Given the description of an element on the screen output the (x, y) to click on. 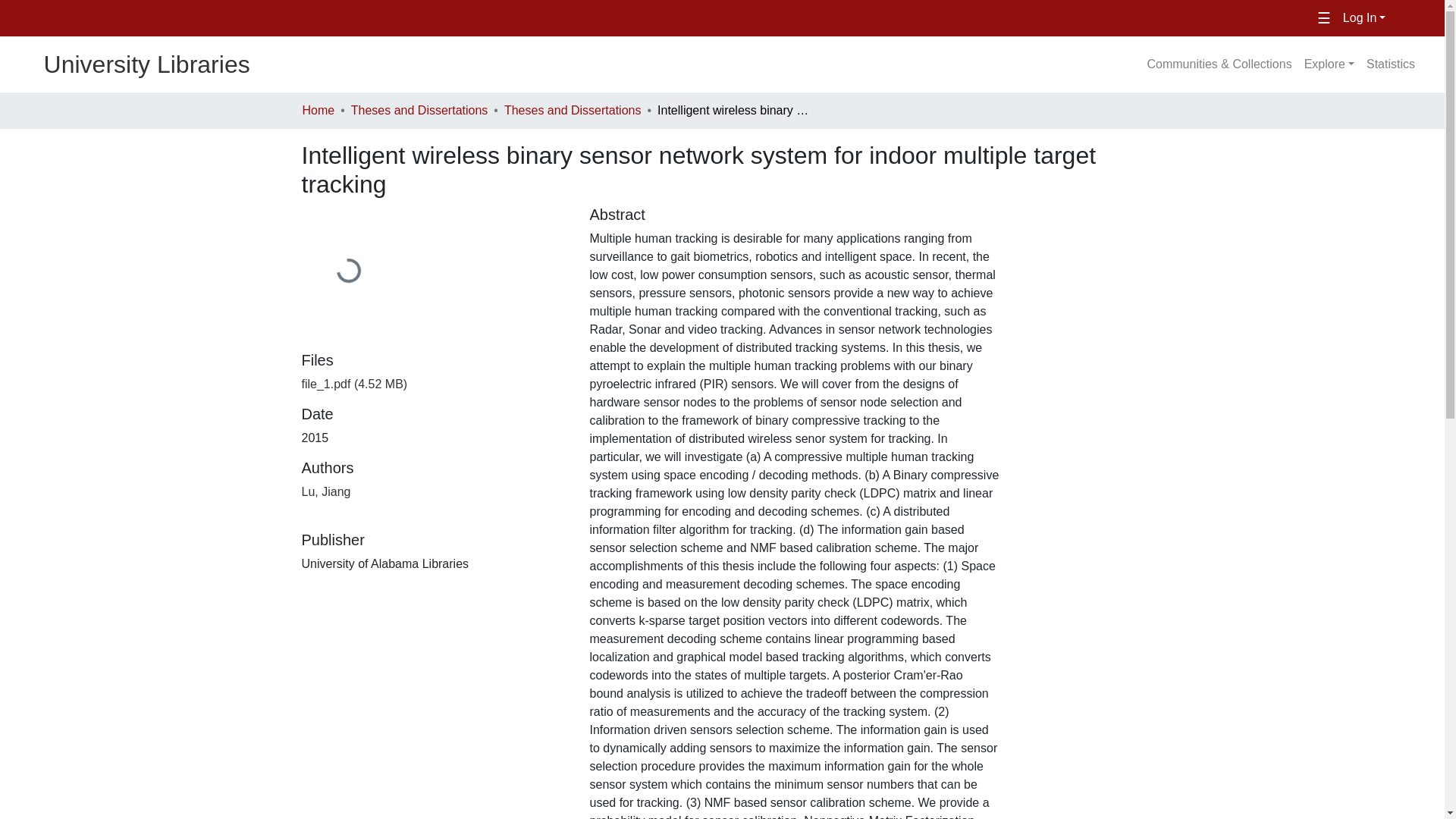
University Libraries (125, 64)
Statistics (1390, 64)
The University of Alabama (254, 18)
Lu, Jiang (325, 491)
Statistics (1390, 64)
Explore (1328, 64)
Home (317, 110)
Theses and Dissertations (418, 110)
Log In (1364, 17)
The University of Alabama (254, 18)
